Given the description of an element on the screen output the (x, y) to click on. 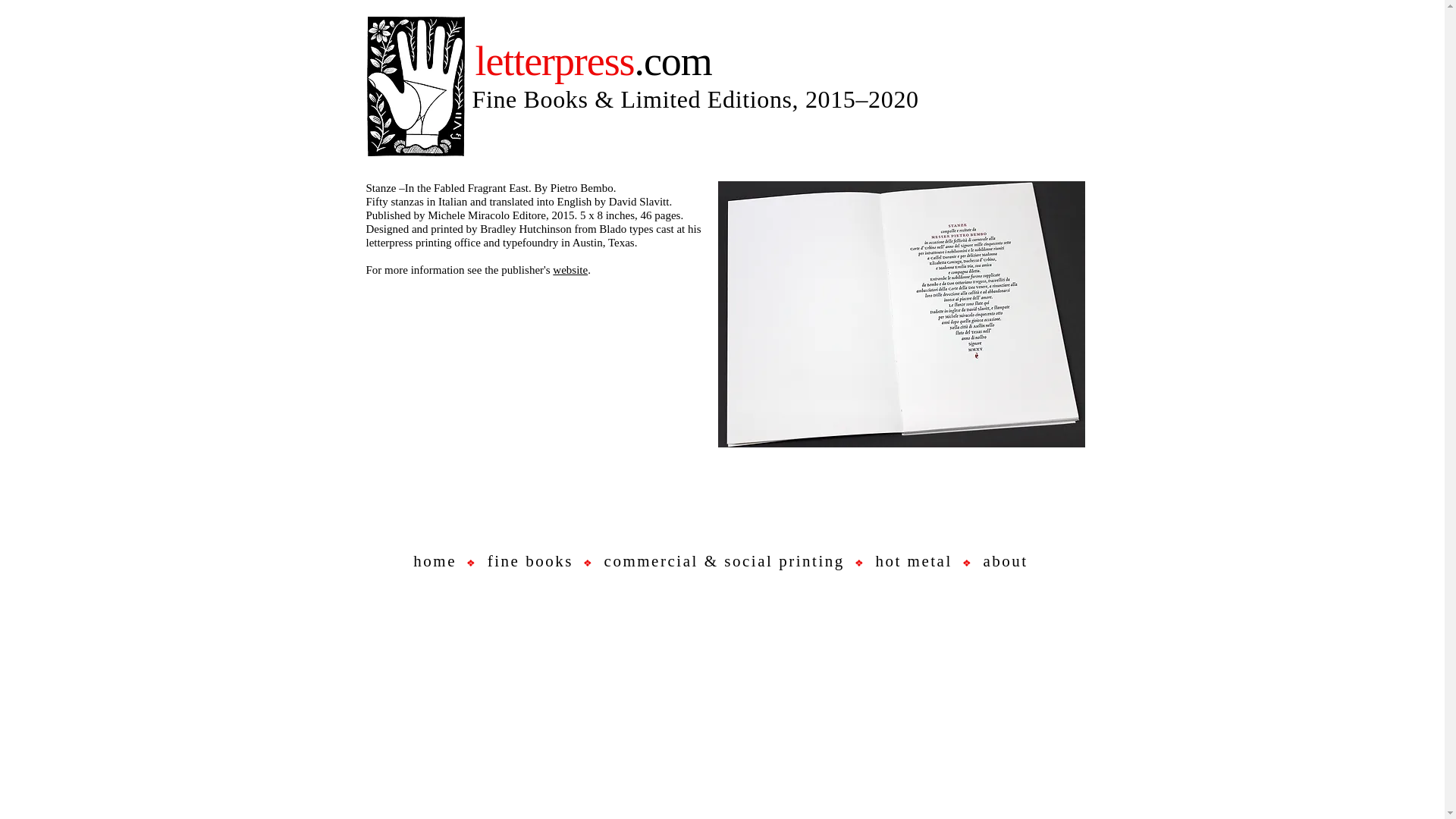
hot metal (913, 560)
home (435, 561)
website (570, 269)
letterpress.com (592, 61)
about (1004, 560)
fine books (530, 561)
